Given the description of an element on the screen output the (x, y) to click on. 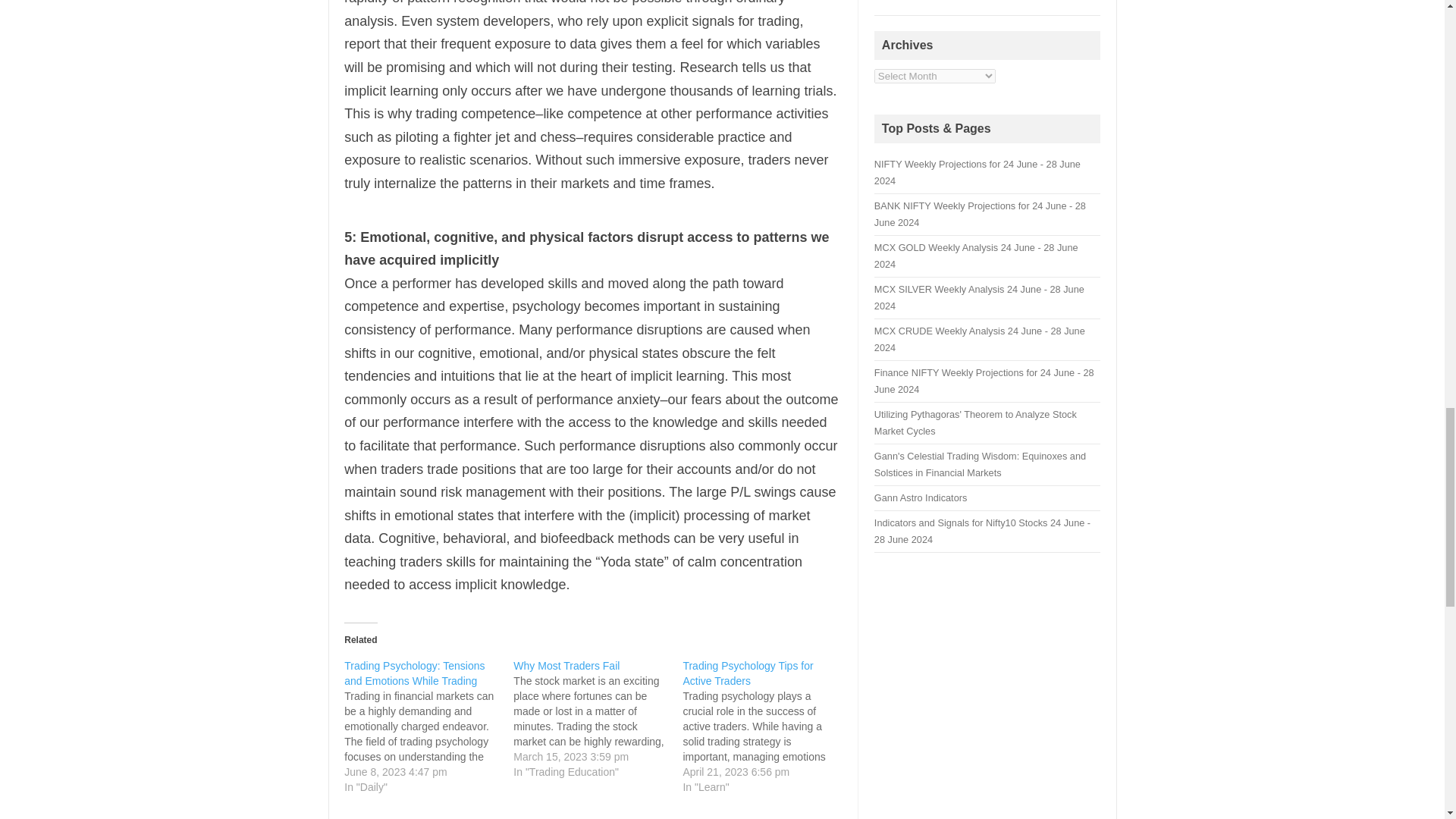
Trading Psychology: Tensions and Emotions While Trading (413, 673)
Why Most Traders Fail (597, 718)
Why Most Traders Fail (566, 665)
Trading Psychology Tips for Active Traders (766, 726)
Trading Psychology Tips for Active Traders (747, 673)
Trading Psychology: Tensions and Emotions While Trading (428, 726)
Trading Psychology: Tensions and Emotions While Trading (413, 673)
Why Most Traders Fail (566, 665)
Trading Psychology Tips for Active Traders (747, 673)
